Given the description of an element on the screen output the (x, y) to click on. 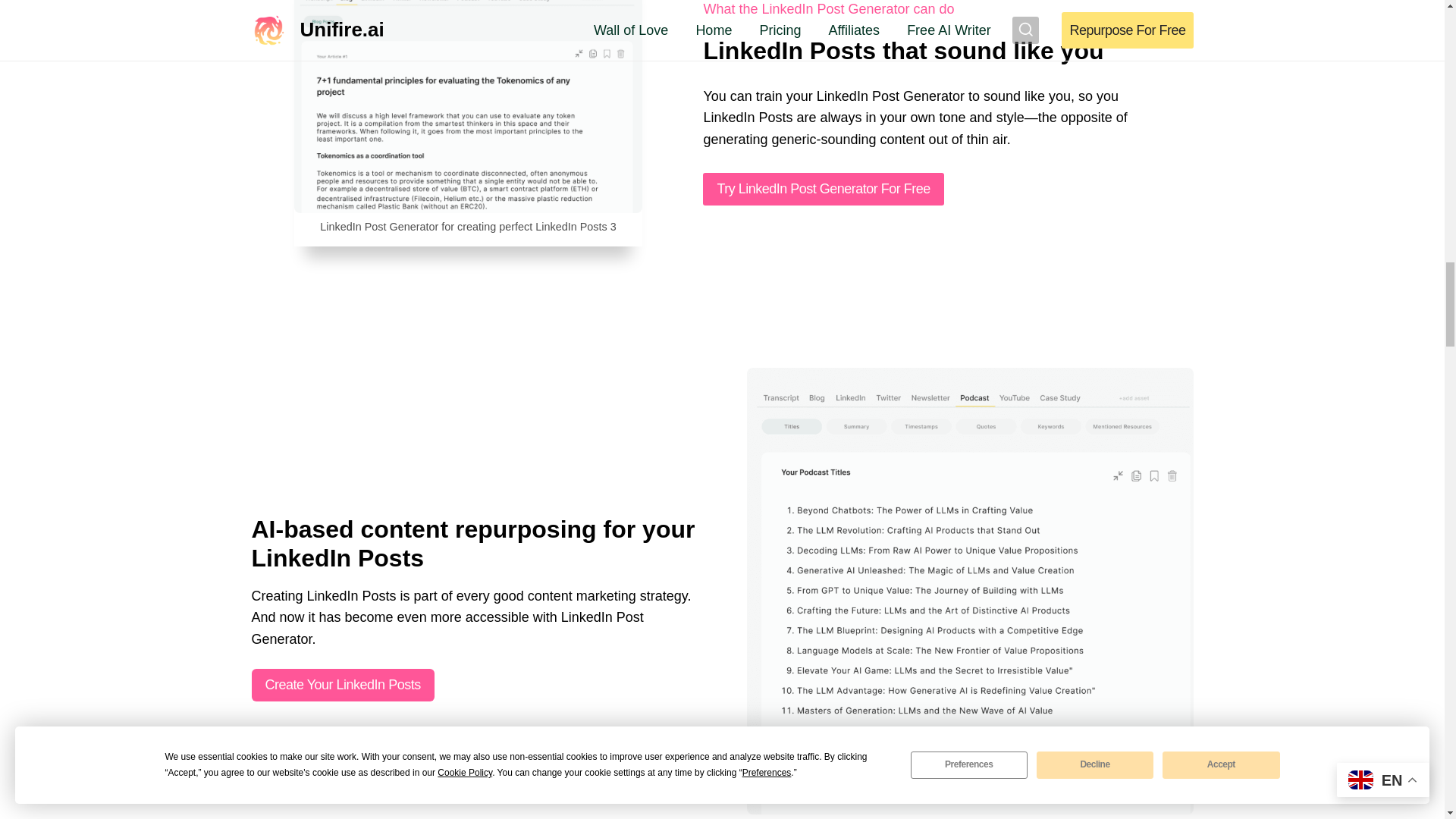
Create Your LinkedIn Posts (342, 685)
Try LinkedIn Post Generator For Free (823, 188)
